Given the description of an element on the screen output the (x, y) to click on. 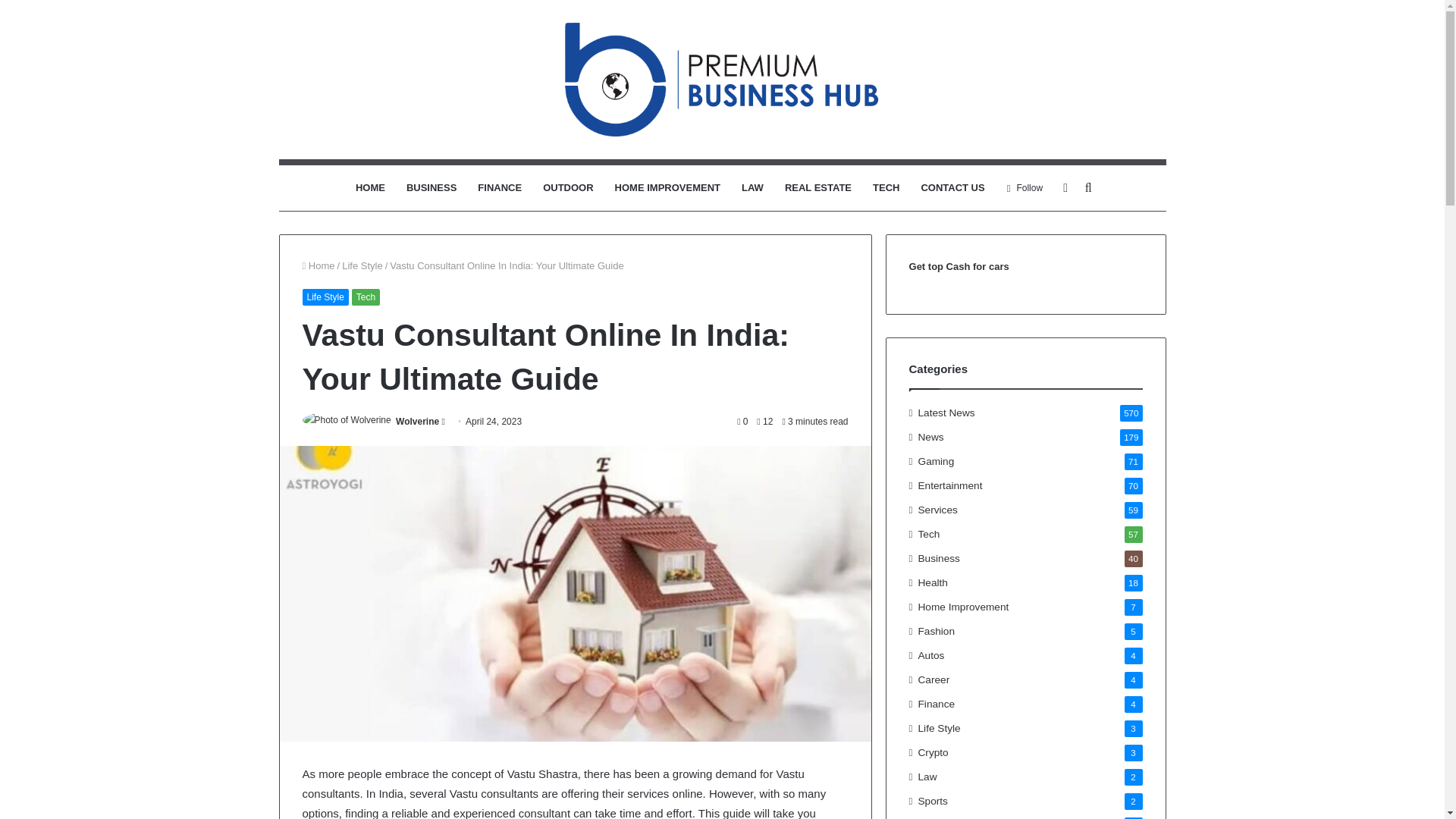
TECH (885, 187)
CONTACT US (952, 187)
HOME (370, 187)
FINANCE (499, 187)
Premium Business Hub (721, 79)
Follow (1024, 187)
Wolverine (417, 421)
HOME IMPROVEMENT (667, 187)
LAW (752, 187)
Wolverine (417, 421)
